Given the description of an element on the screen output the (x, y) to click on. 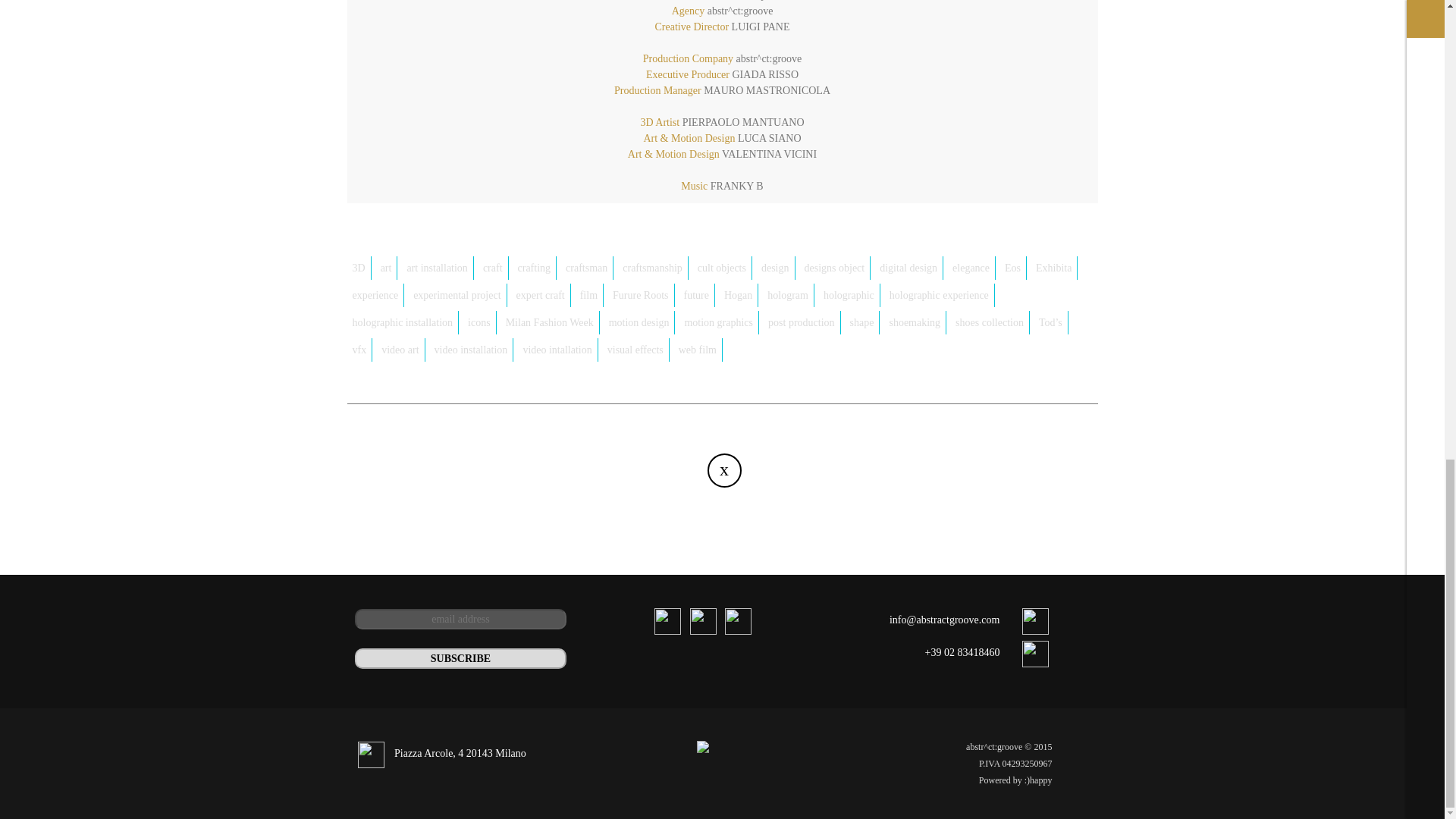
craftsmanship (652, 268)
Furure Roots (641, 295)
film (589, 295)
email address (461, 619)
Exhibita (1053, 268)
Subscribe (461, 658)
Eos (1012, 268)
expert craft (540, 295)
art installation (437, 268)
craftsman (586, 268)
art (386, 268)
crafting (534, 268)
experimental project (456, 295)
elegance (971, 268)
cult objects (722, 268)
